Given the description of an element on the screen output the (x, y) to click on. 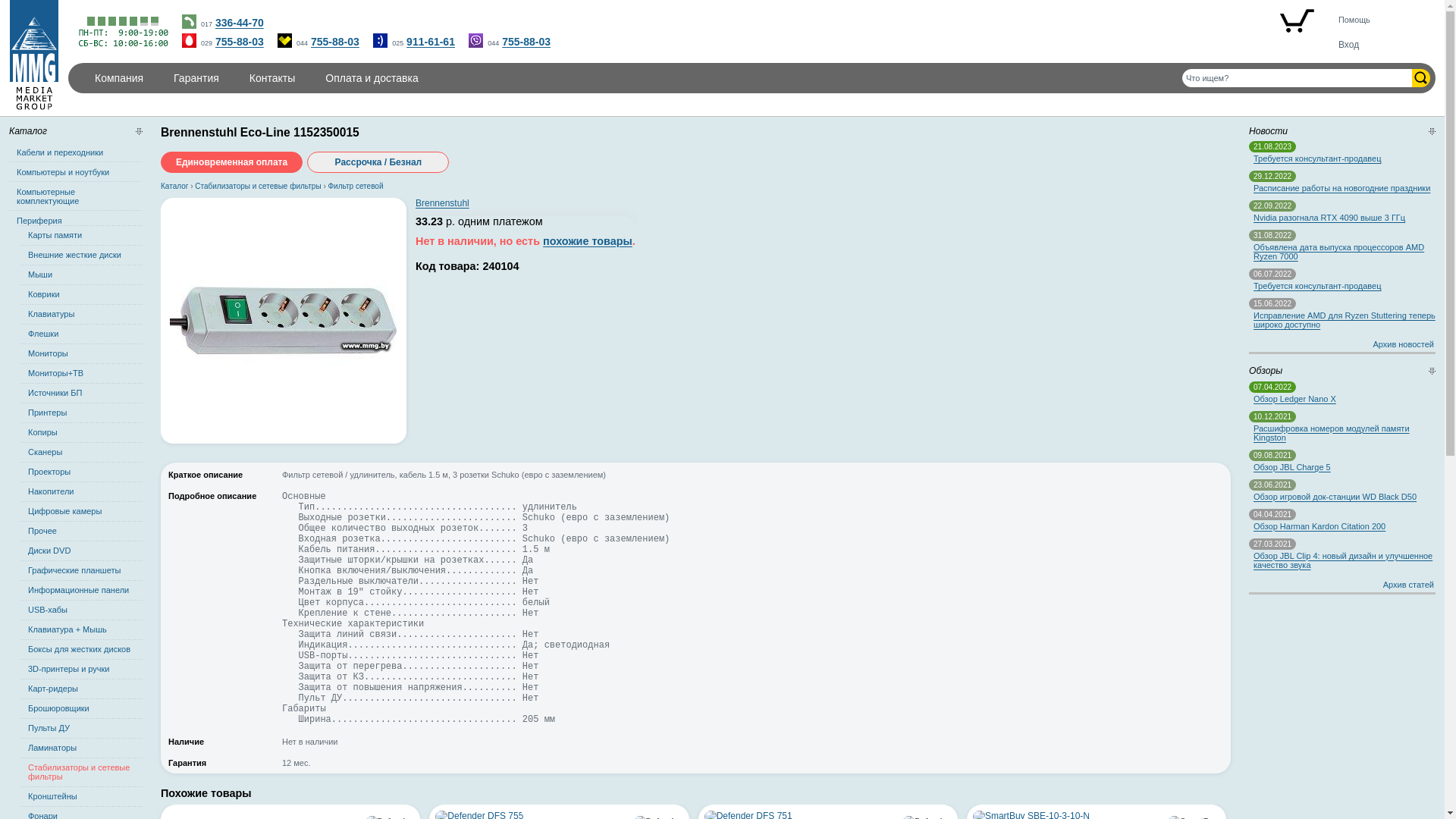
336-44-70 Element type: text (239, 22)
911-61-61 Element type: text (430, 41)
755-88-03 Element type: text (334, 41)
755-88-03 Element type: text (526, 41)
Brennenstuhl Element type: text (442, 202)
755-88-03 Element type: text (239, 41)
